Given the description of an element on the screen output the (x, y) to click on. 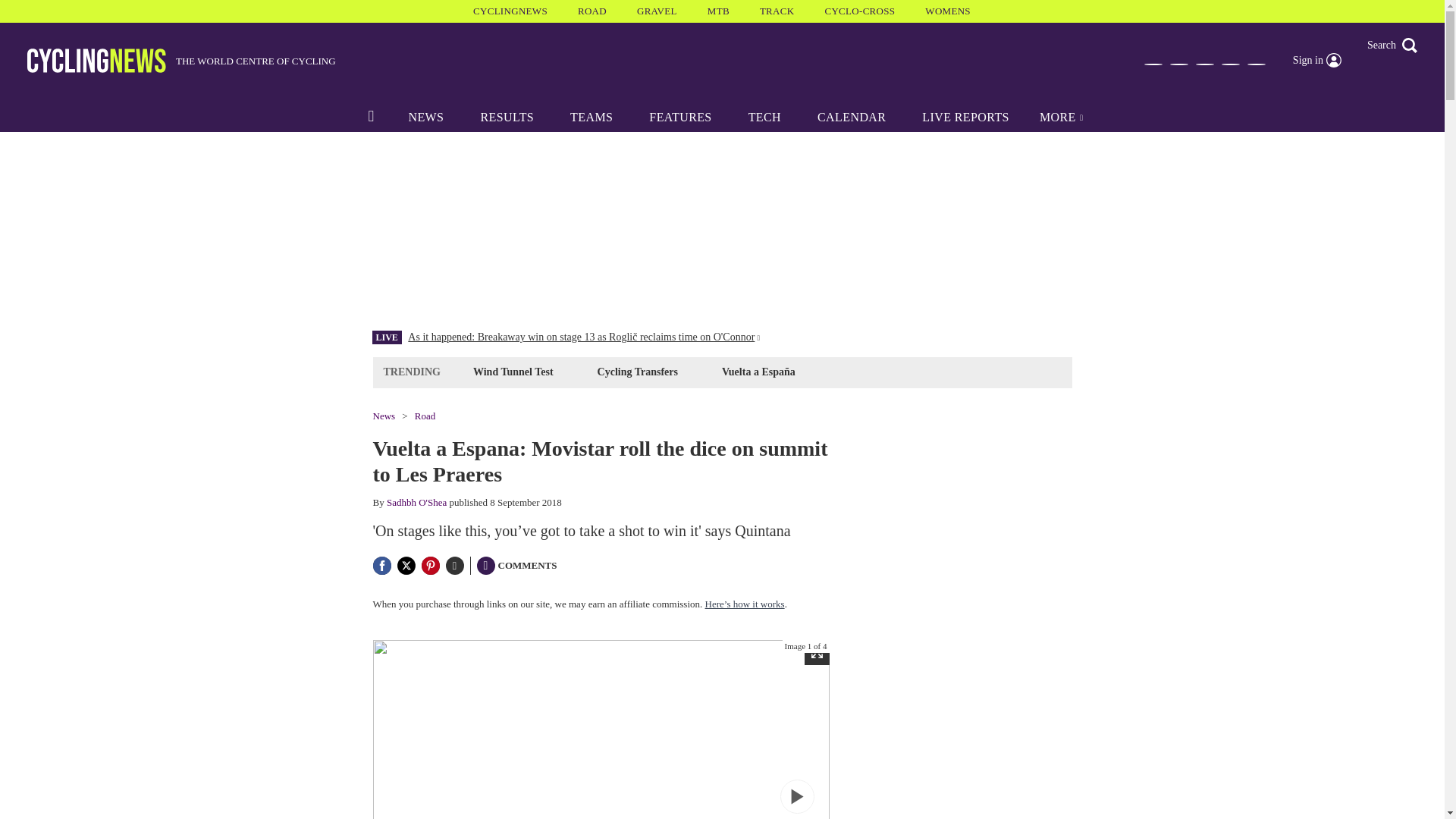
MTB (718, 10)
Wind Tunnel Test (513, 372)
Sadhbh O'Shea (416, 501)
CYCLO-CROSS (859, 10)
TEAMS (590, 117)
ROAD (592, 10)
Cycling Transfers (637, 372)
RESULTS (506, 117)
TECH (764, 117)
TRACK (777, 10)
